Given the description of an element on the screen output the (x, y) to click on. 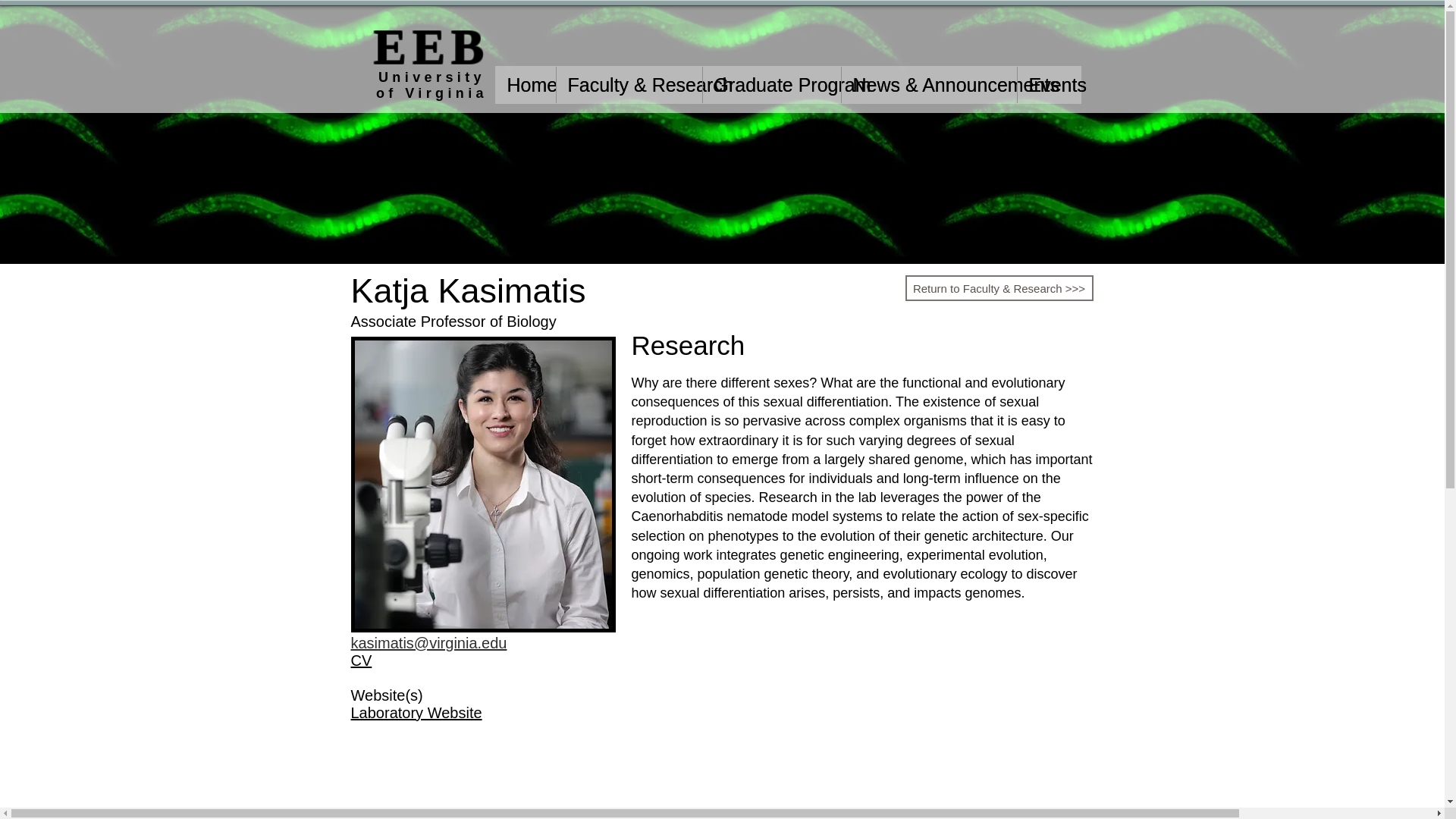
University of Virginia (431, 84)
Graduate Program (771, 84)
Events (1048, 84)
Home (526, 84)
CV (360, 660)
Laboratory Website (415, 712)
EEB (430, 46)
